Given the description of an element on the screen output the (x, y) to click on. 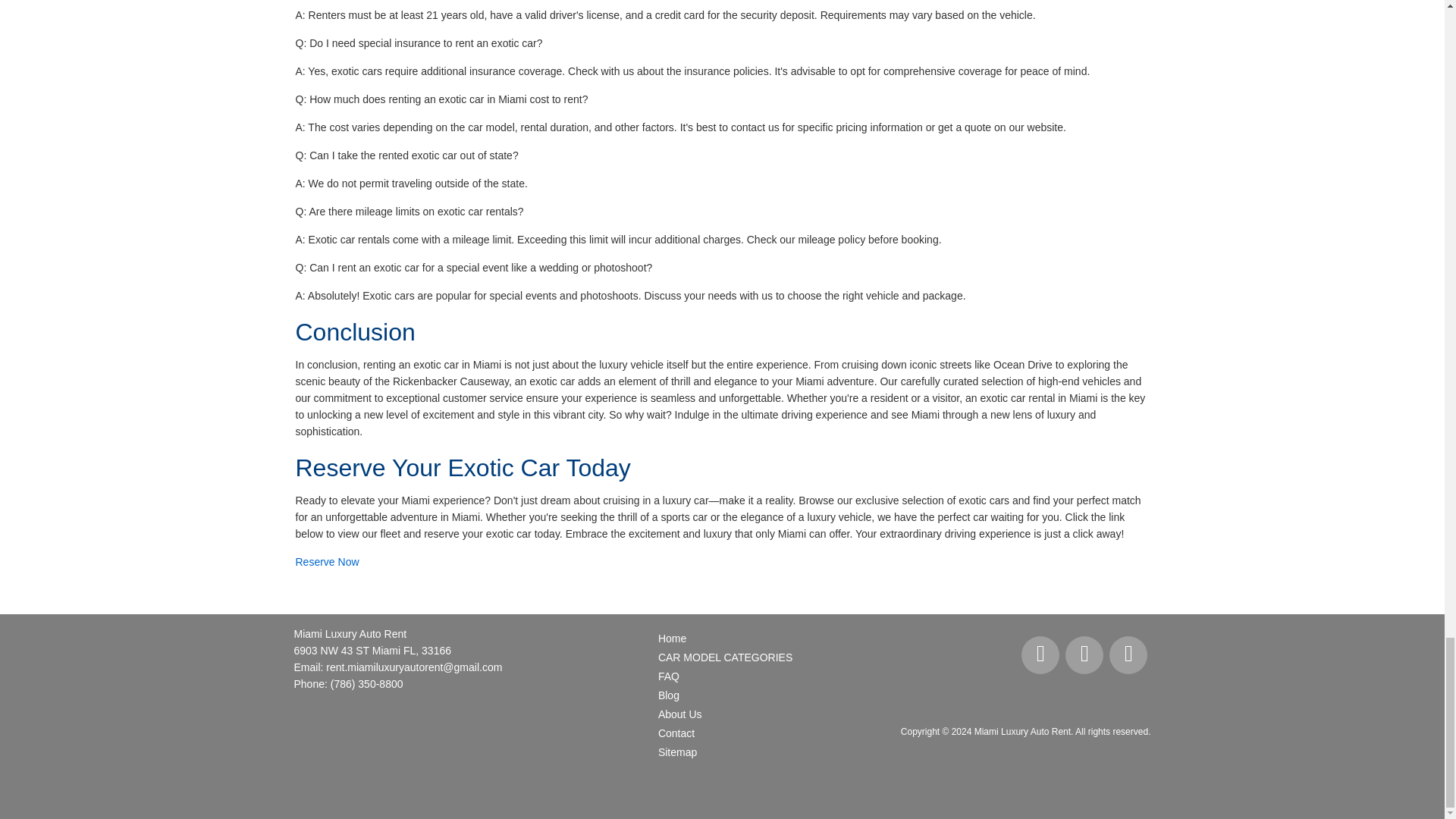
FAQ (753, 676)
CAR MODEL CATEGORIES (753, 657)
Home (753, 638)
Reserve an Exotic Car Today (327, 562)
Blog (753, 695)
About Us (753, 714)
Car rental software powered by Car Rental Solutions (1104, 773)
Sitemap (753, 752)
Contact (753, 732)
Reserve Now (327, 562)
